Given the description of an element on the screen output the (x, y) to click on. 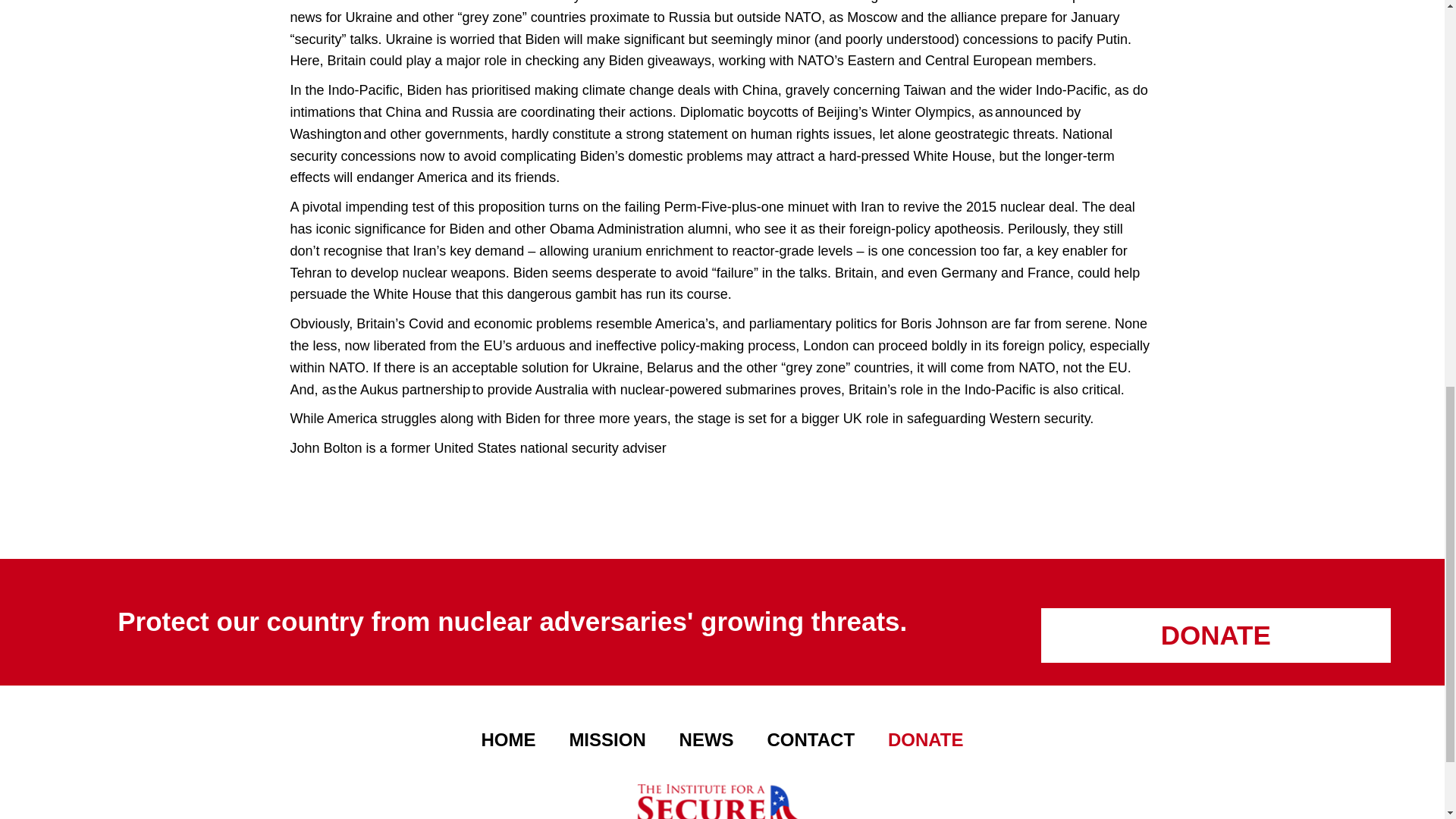
HOME (507, 739)
The Institute for a Secure America (721, 791)
NEWS (706, 739)
MISSION (607, 739)
DONATE (1215, 635)
CONTACT (811, 739)
DONATE (925, 739)
